Given the description of an element on the screen output the (x, y) to click on. 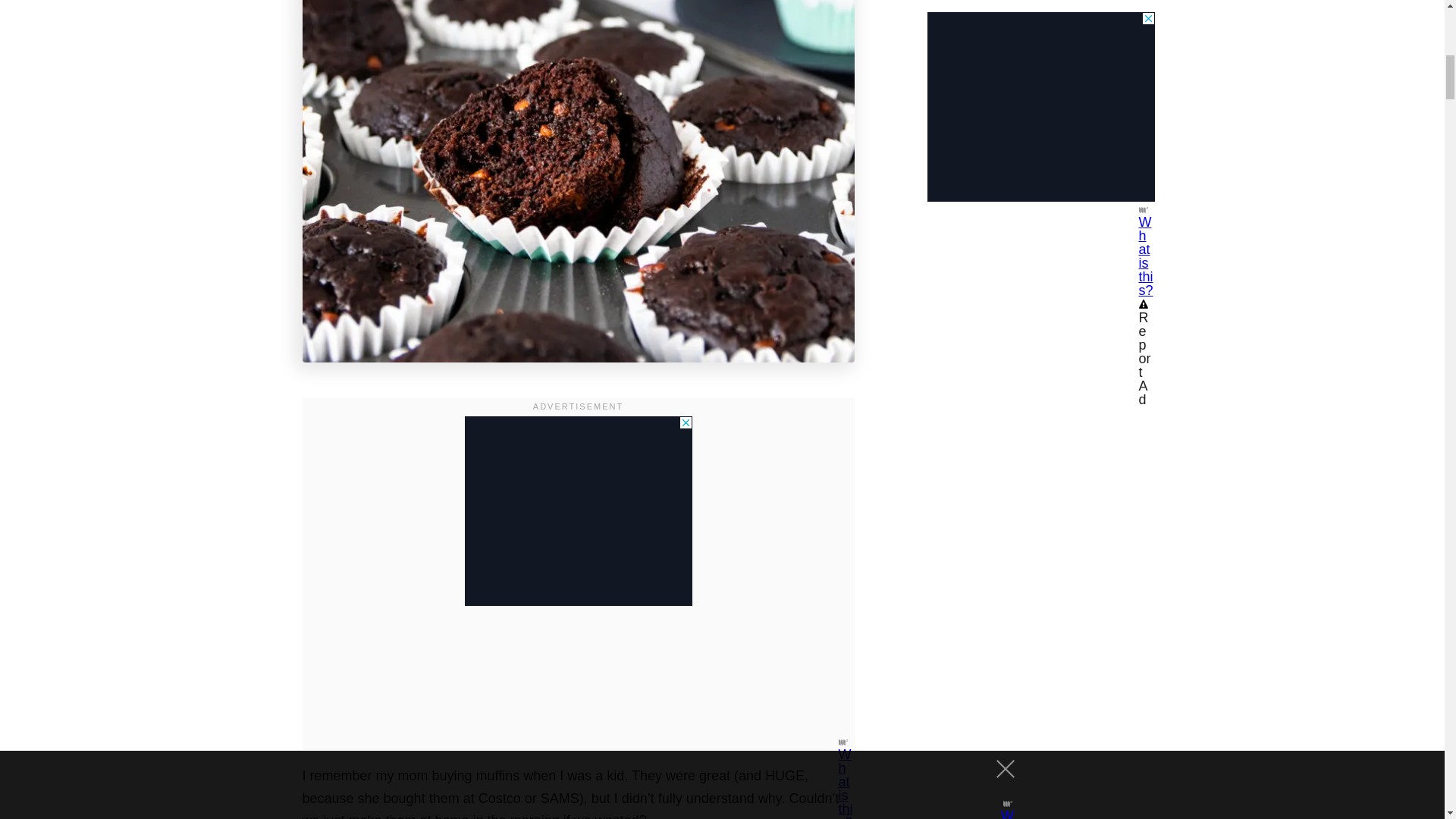
3rd party ad content (577, 511)
